Given the description of an element on the screen output the (x, y) to click on. 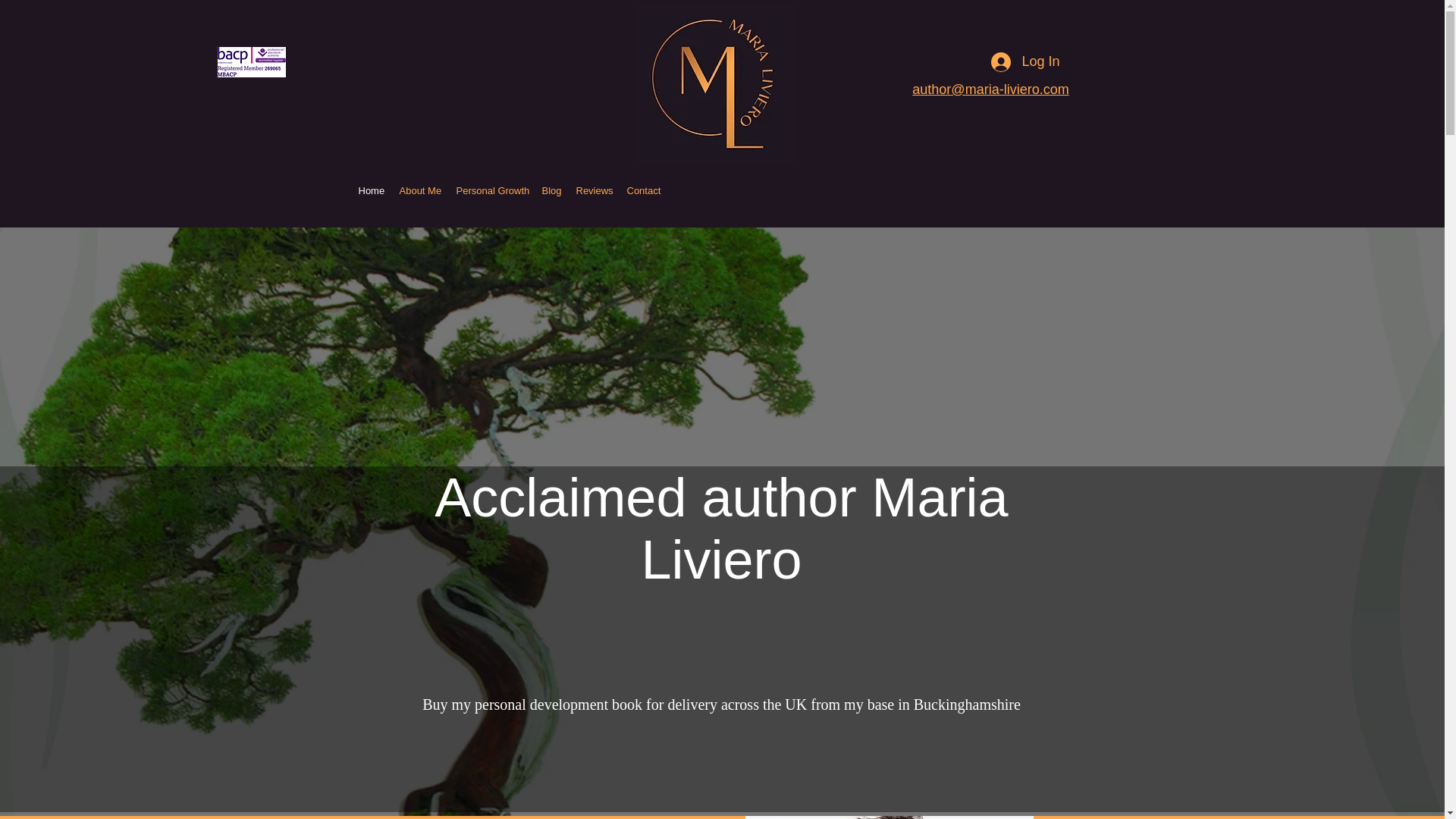
Home (370, 190)
Personal Growth (491, 190)
Contact (642, 190)
Blog (550, 190)
Reviews (594, 190)
About Me (419, 190)
Log In (1024, 61)
